Given the description of an element on the screen output the (x, y) to click on. 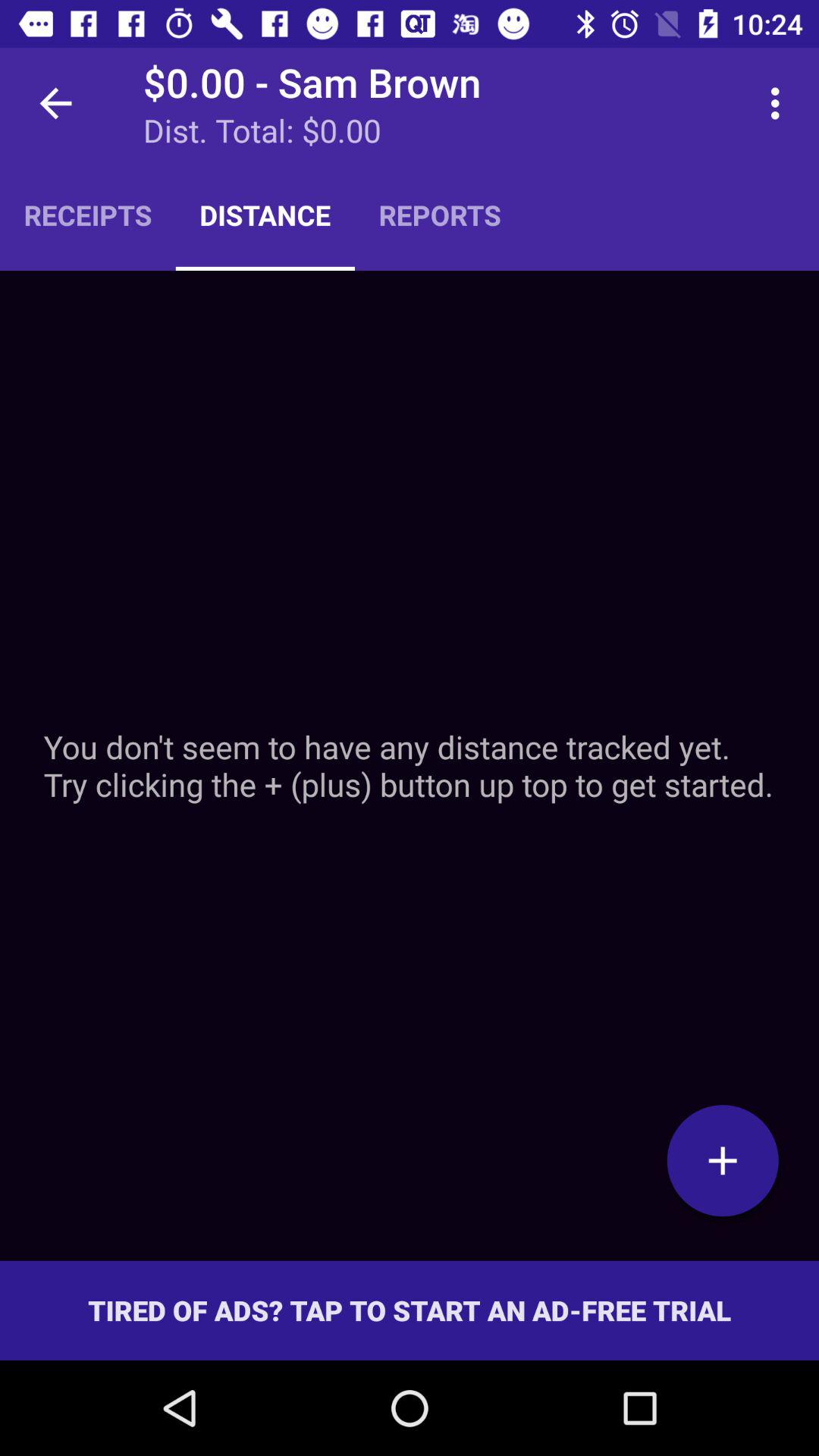
choose the icon at the bottom right corner (722, 1160)
